Given the description of an element on the screen output the (x, y) to click on. 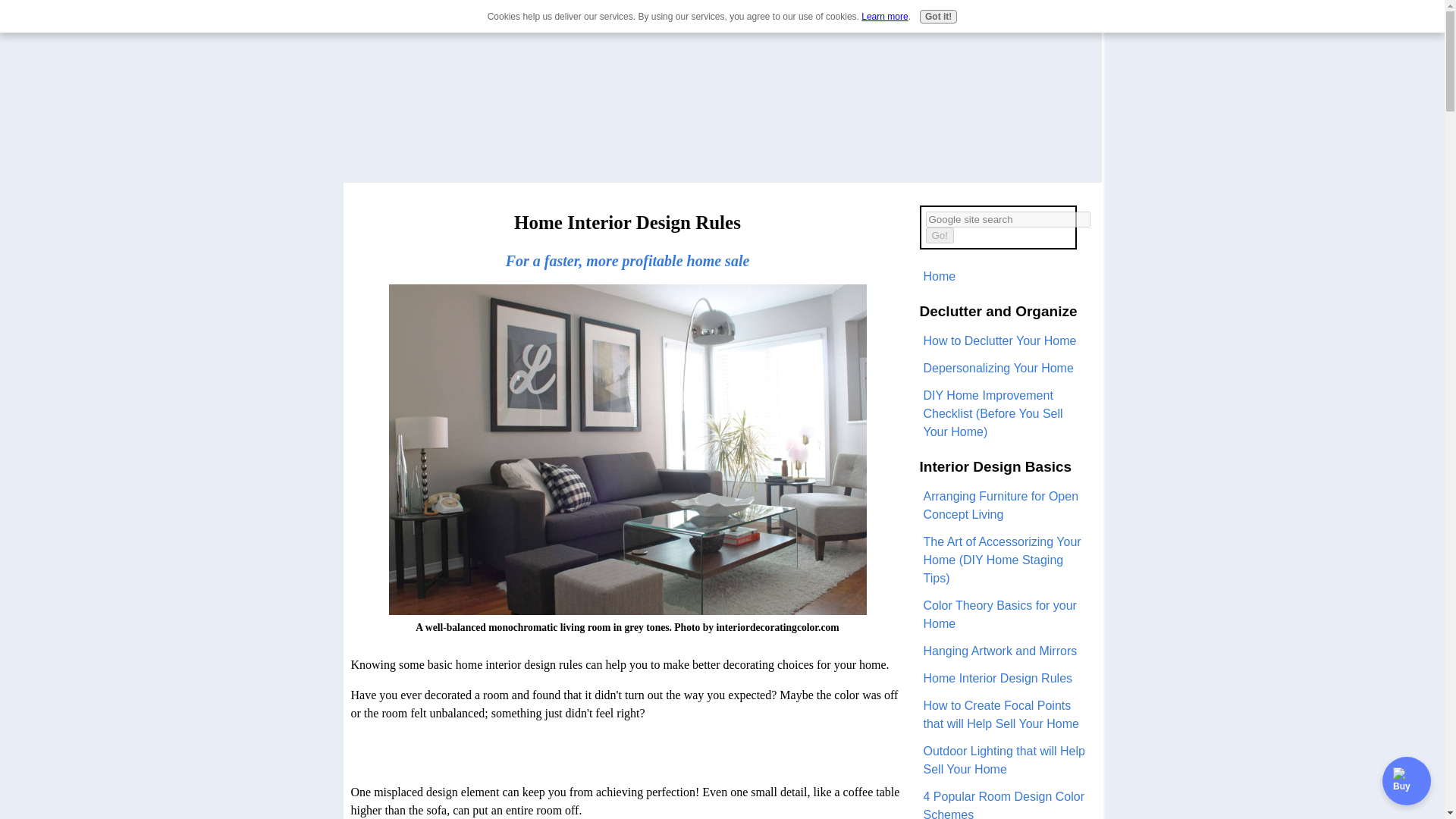
Go! (938, 235)
Go! (938, 235)
Arranging Furniture for Open Concept Living (1005, 505)
Outdoor Lighting that will Help Sell Your Home (1005, 760)
Depersonalizing Your Home (1005, 368)
Color Theory Basics for your Home (1005, 614)
How to Declutter Your Home (1005, 340)
Home (1005, 276)
Hanging Artwork and Mirrors (1005, 651)
Google site search (1006, 218)
How to Create Focal Points that will Help Sell Your Home (1005, 714)
Home Interior Design Rules (1005, 678)
4 Popular Room Design Color Schemes (1005, 801)
